Given the description of an element on the screen output the (x, y) to click on. 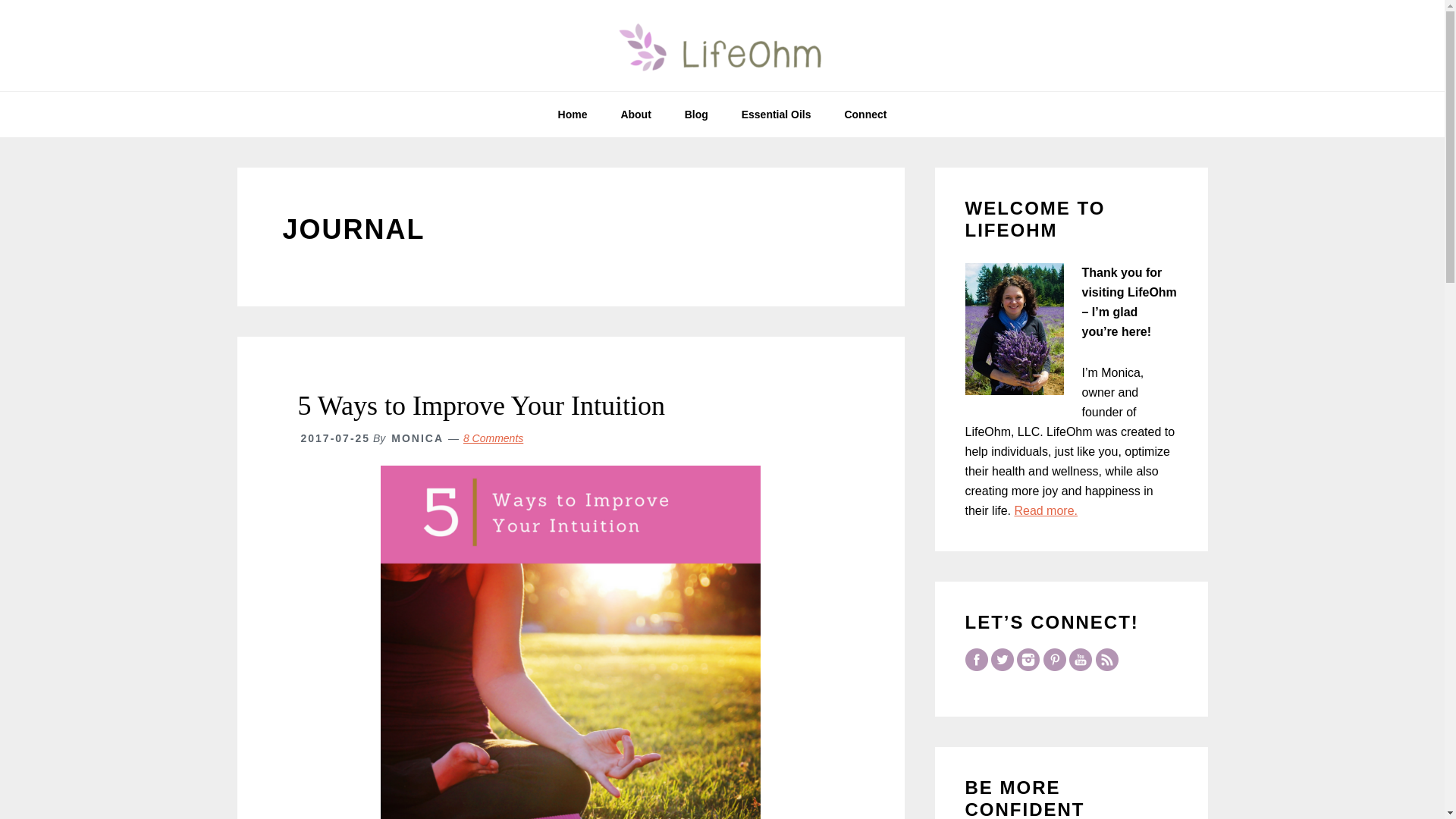
LifeOhm (721, 45)
Home (572, 114)
Blog (696, 114)
MONICA (417, 438)
Connect (864, 114)
Essential Oils (776, 114)
About (635, 114)
5 Ways to Improve Your Intuition (480, 405)
About LifeOhm (1045, 510)
8 Comments (492, 438)
